Given the description of an element on the screen output the (x, y) to click on. 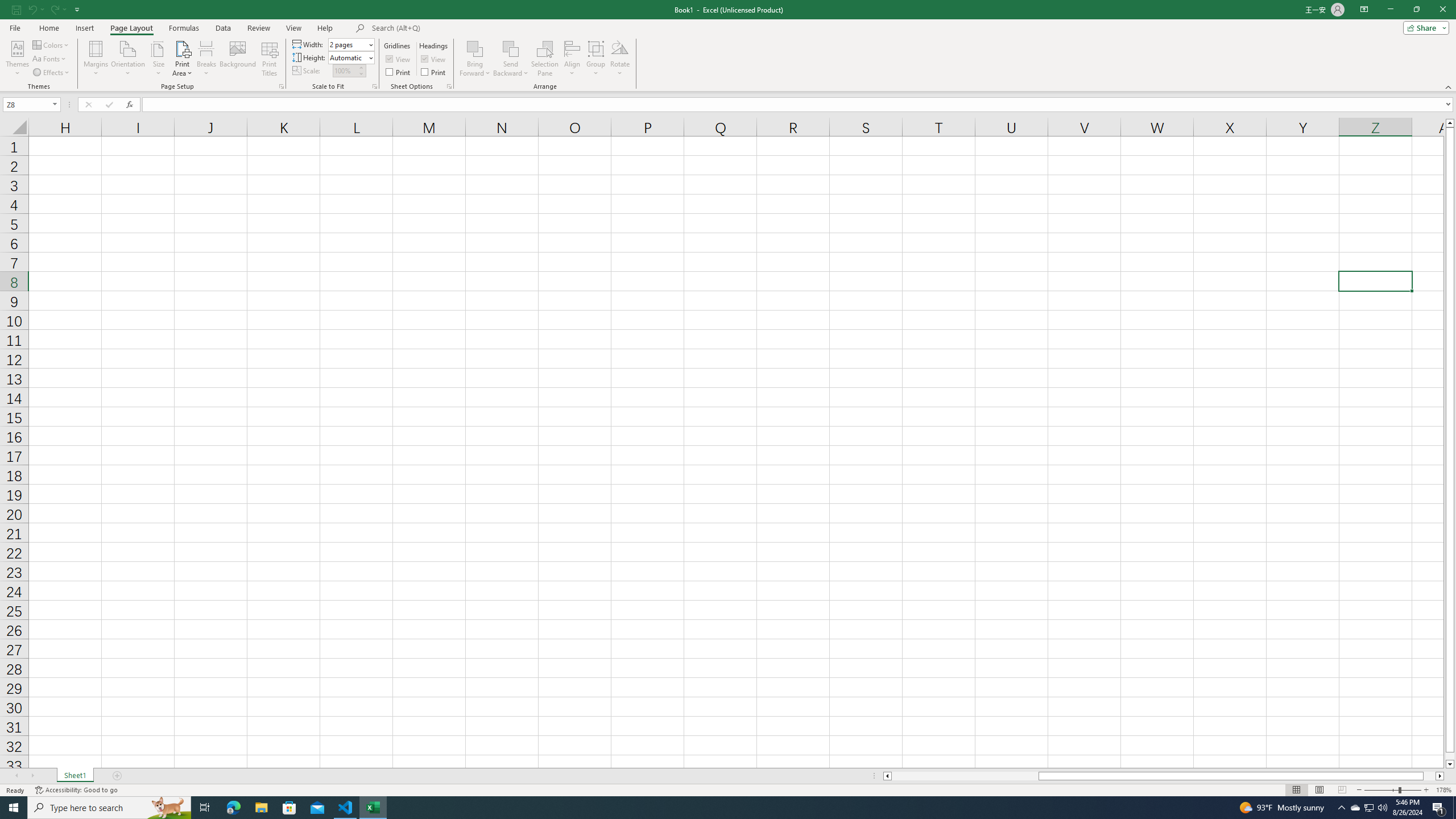
More (360, 67)
Orientation (128, 58)
Group (595, 58)
Less (360, 73)
Themes (17, 58)
Align (571, 58)
Send Backward (510, 48)
Class: MsoCommandBar (728, 45)
